Given the description of an element on the screen output the (x, y) to click on. 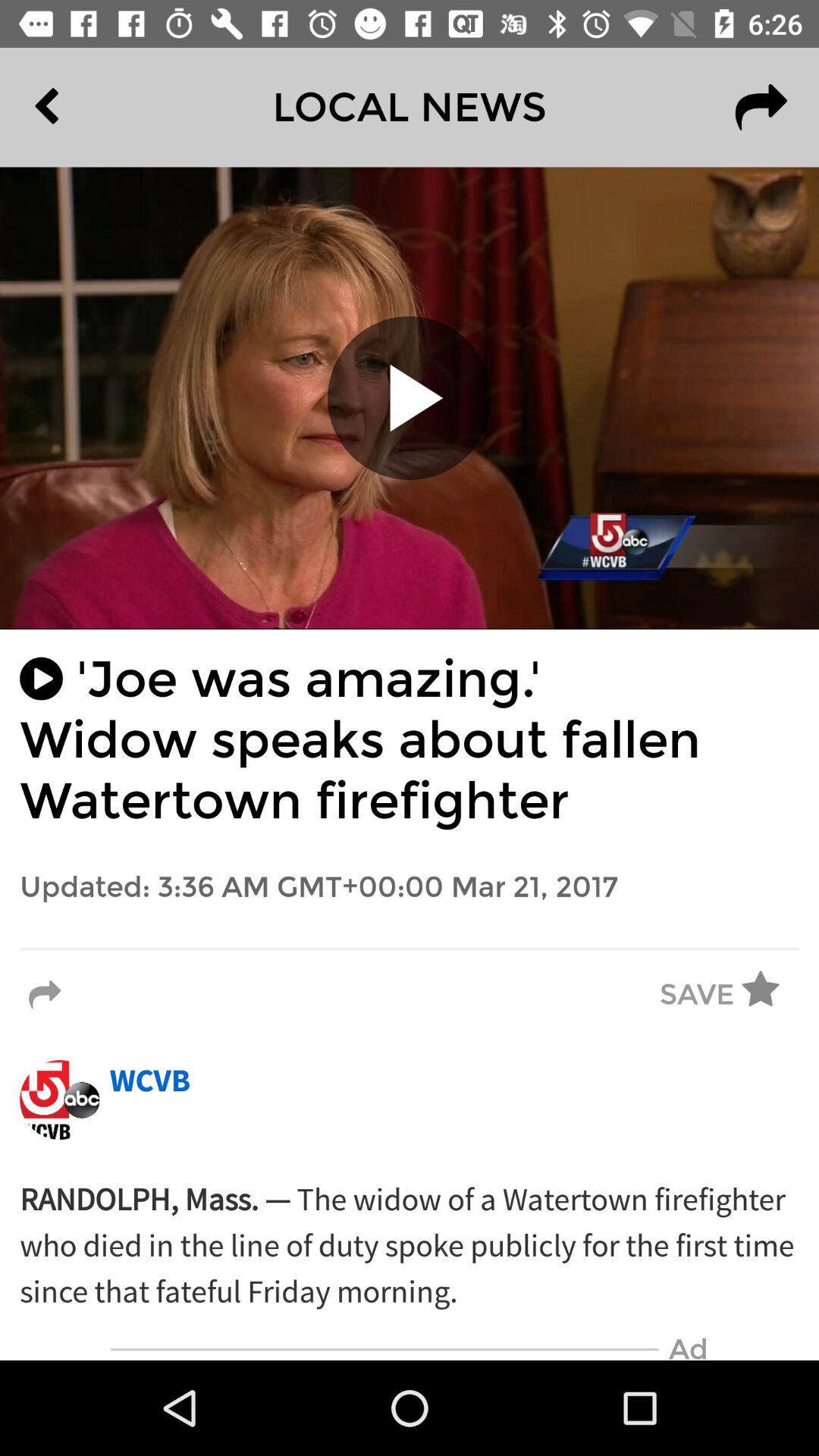
press icon above ad icon (409, 1246)
